Given the description of an element on the screen output the (x, y) to click on. 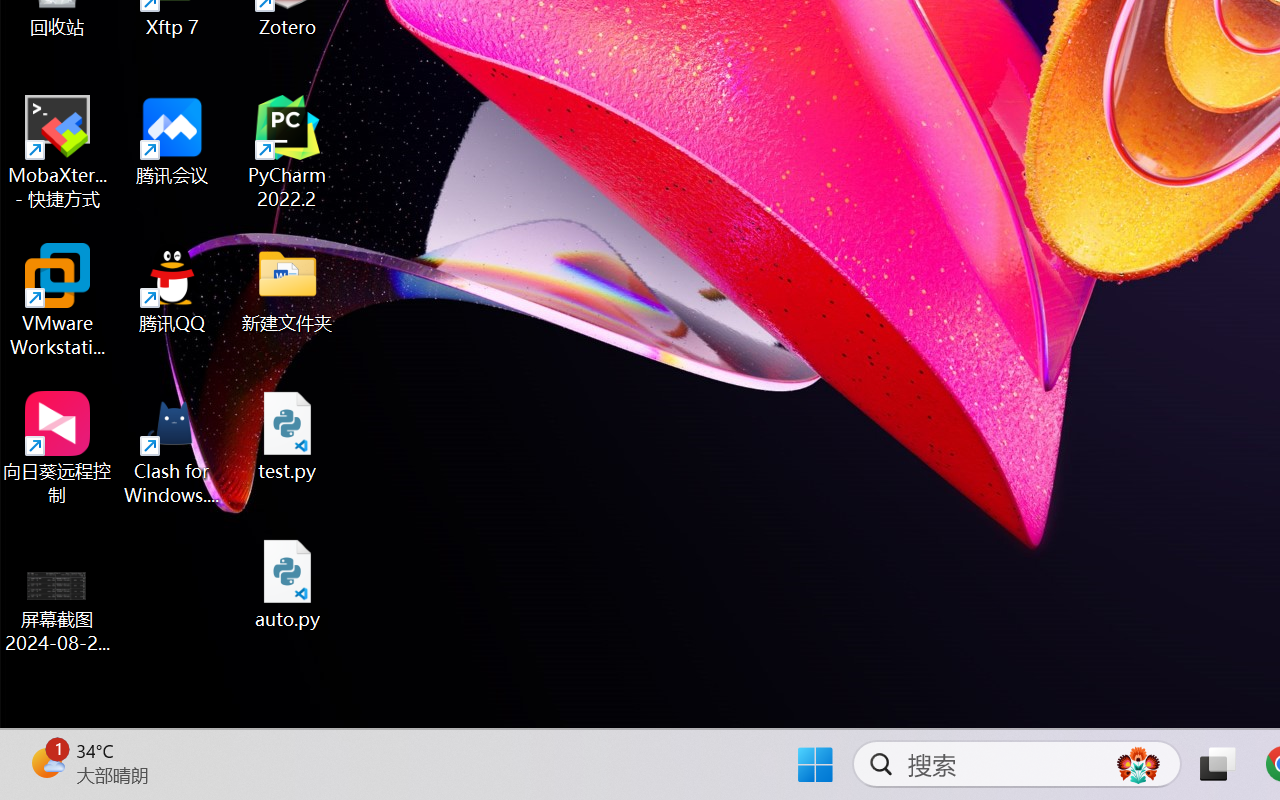
VMware Workstation Pro (57, 300)
